Given the description of an element on the screen output the (x, y) to click on. 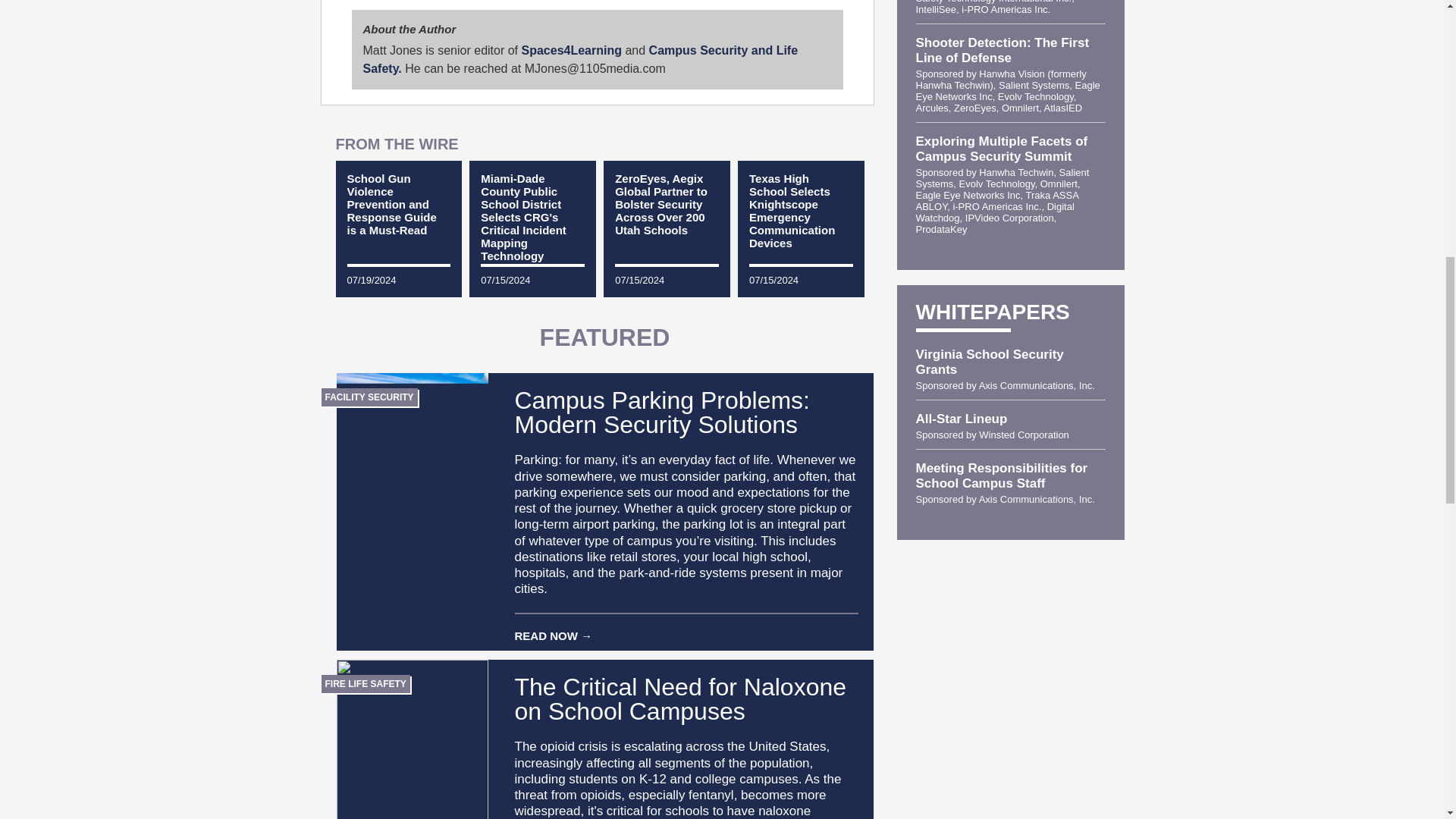
Spaces4Learning (571, 50)
The Critical Need for Naloxone on School Campuses (597, 698)
FACILITY SECURITY (368, 397)
Campus Parking Problems: Modern Security Solutions (597, 412)
Campus Security and Life Safety. (579, 59)
READ NOW (685, 627)
